Given the description of an element on the screen output the (x, y) to click on. 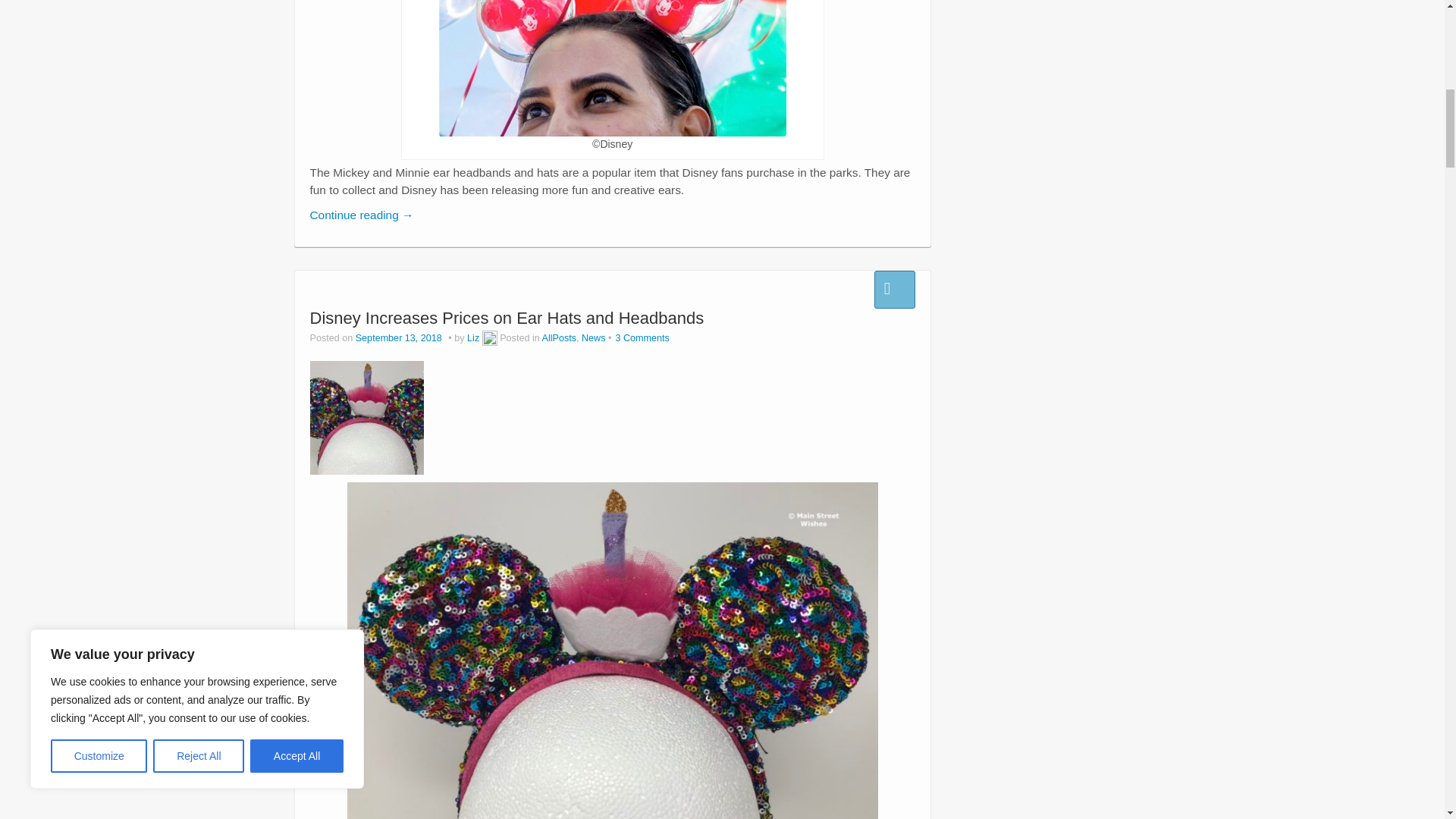
View all posts by Liz (489, 337)
View all posts by Liz (473, 337)
10:09 am (400, 337)
